Given the description of an element on the screen output the (x, y) to click on. 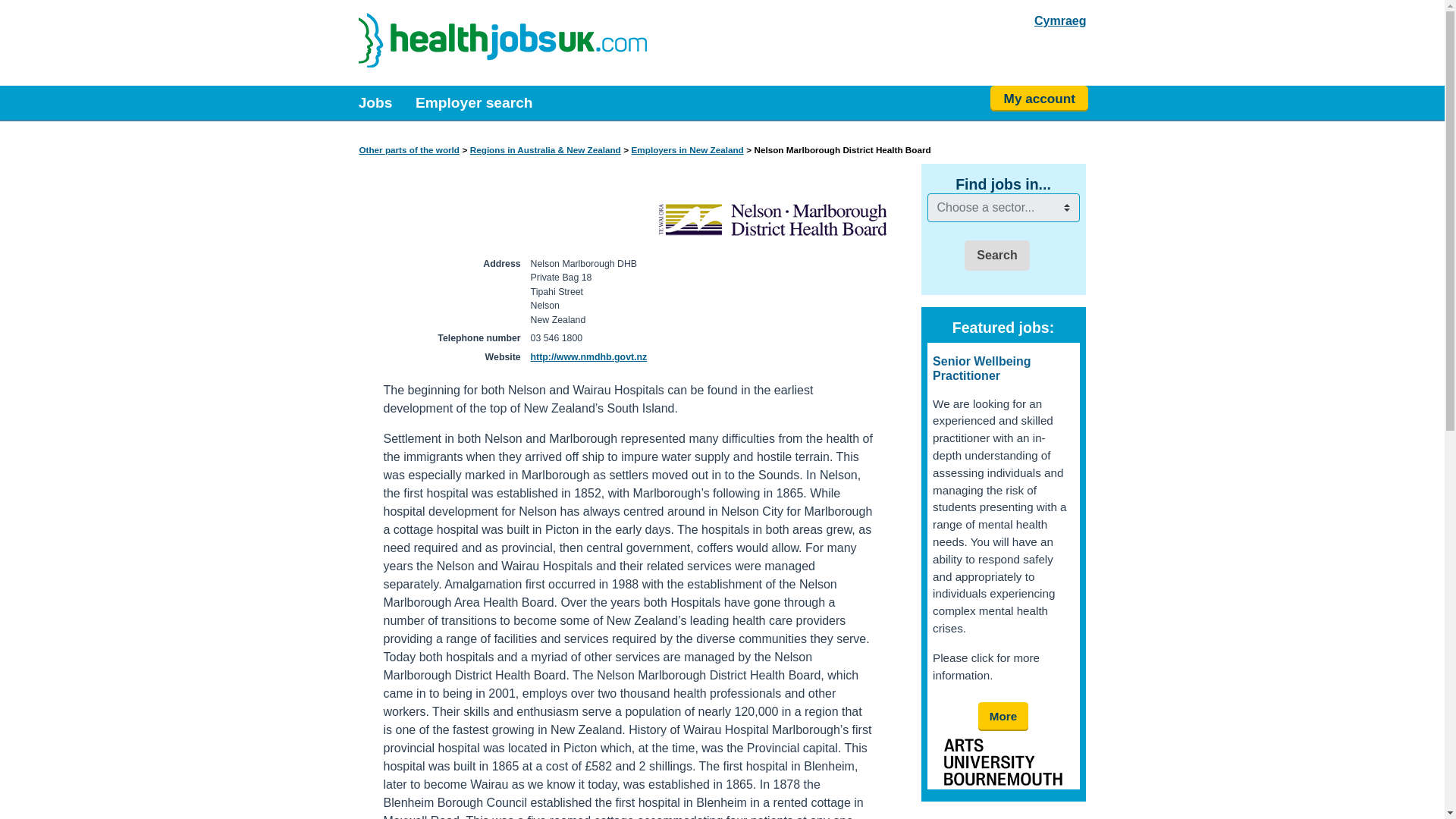
Skip to main content (12, 11)
Employers in New Zealand (687, 149)
Go back to Other parts of the world (409, 149)
My account (1038, 98)
More (1003, 716)
Cymraeg (1059, 21)
Search (996, 255)
My account (1038, 98)
More information about Senior Wellbeing Practitioner (1003, 716)
Go back to Employers in New Zealand (687, 149)
